Given the description of an element on the screen output the (x, y) to click on. 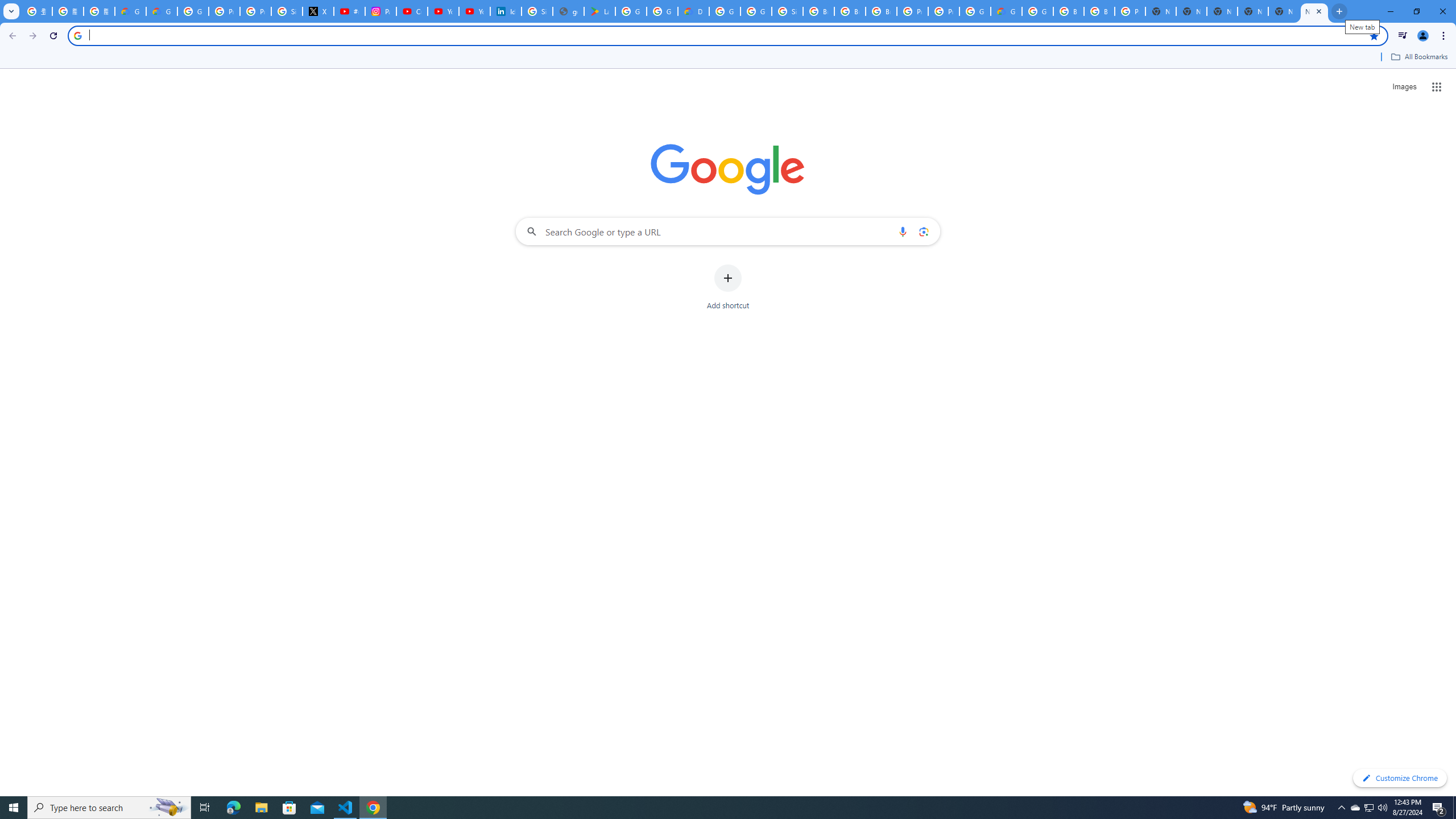
Search icon (77, 35)
Browse Chrome as a guest - Computer - Google Chrome Help (1068, 11)
Sign in - Google Accounts (286, 11)
Search by voice (902, 230)
